Given the description of an element on the screen output the (x, y) to click on. 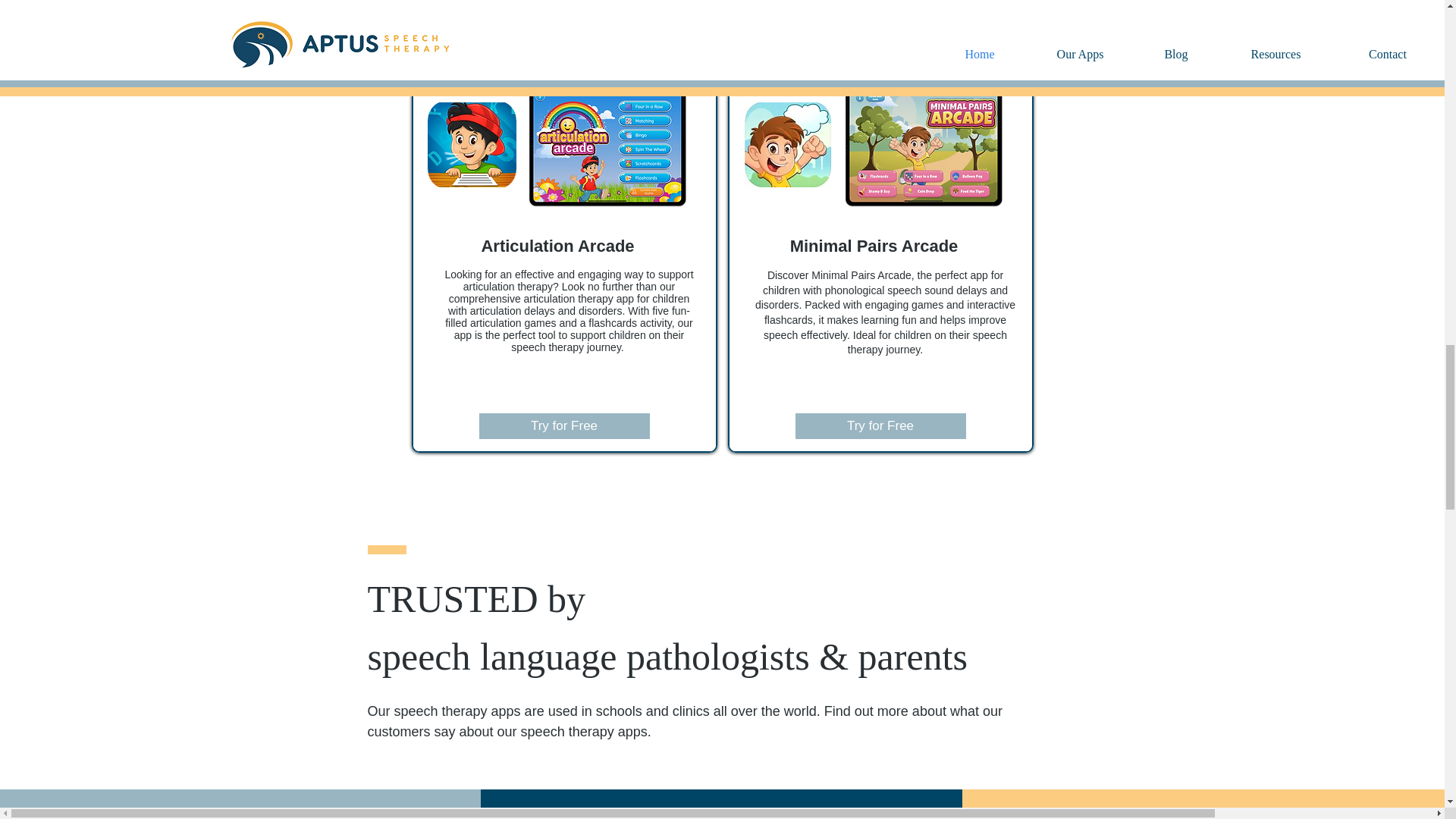
Try for Free (564, 425)
